Given the description of an element on the screen output the (x, y) to click on. 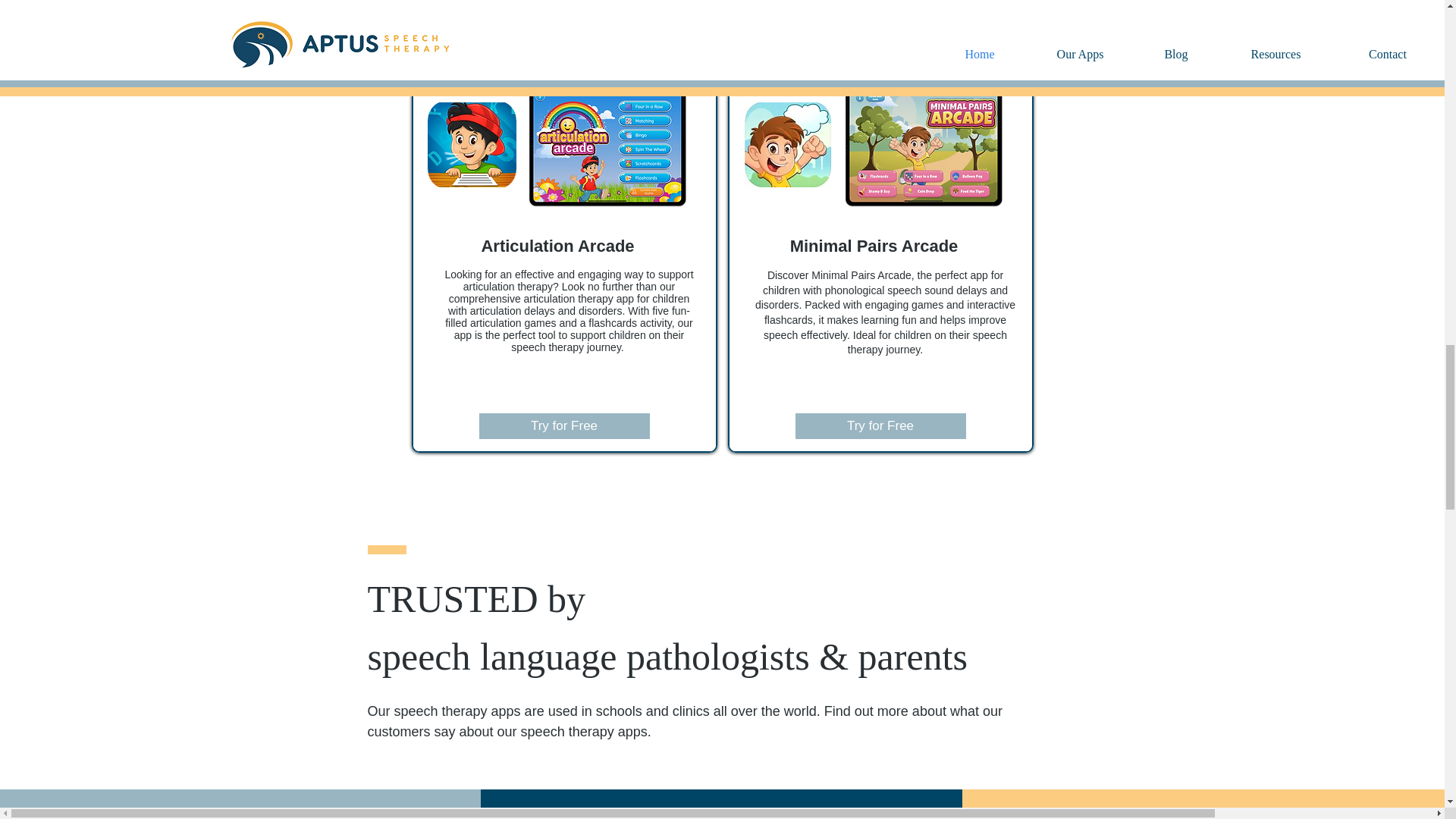
Try for Free (564, 425)
